Given the description of an element on the screen output the (x, y) to click on. 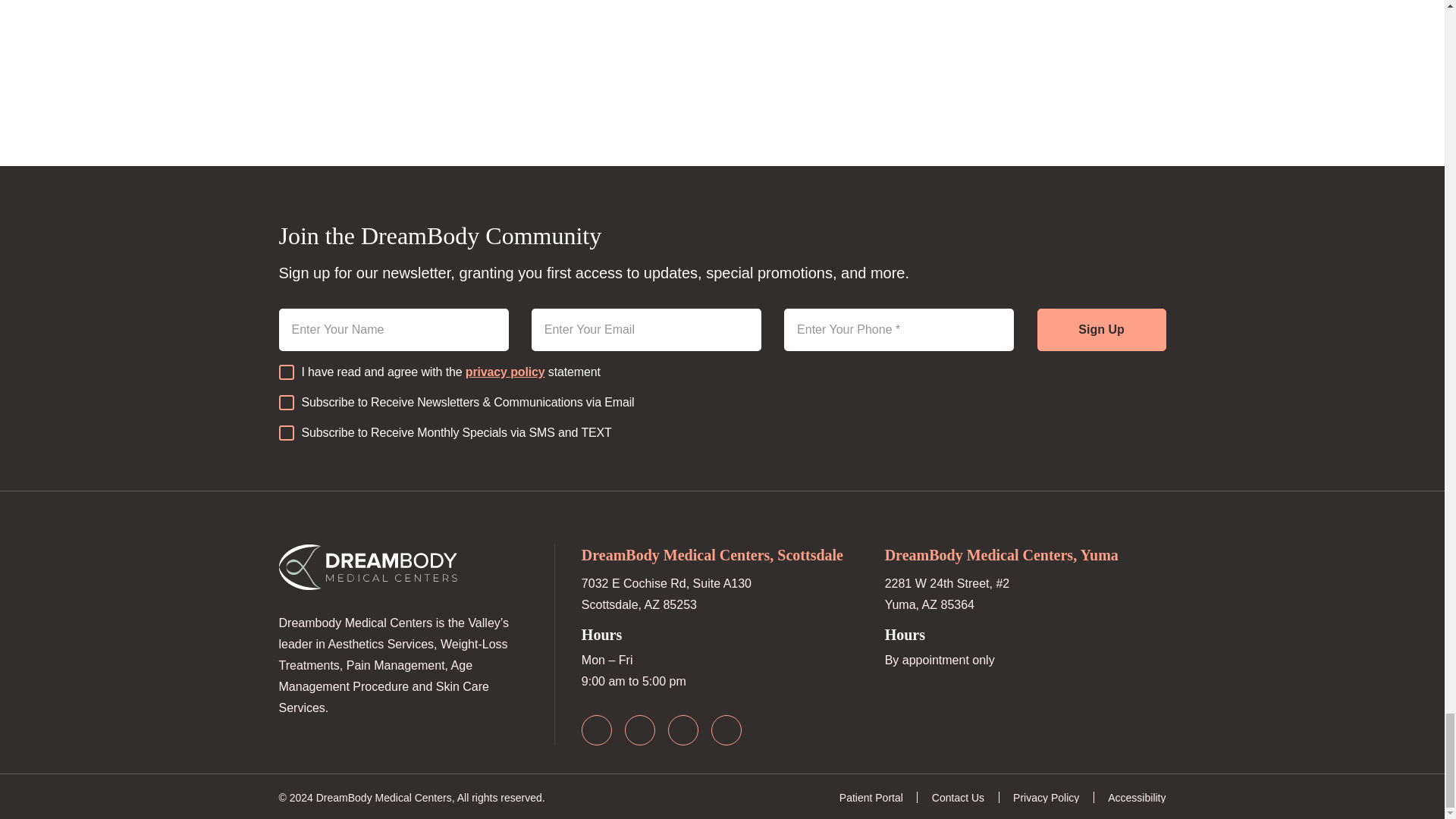
Sign up (1101, 329)
